Given the description of an element on the screen output the (x, y) to click on. 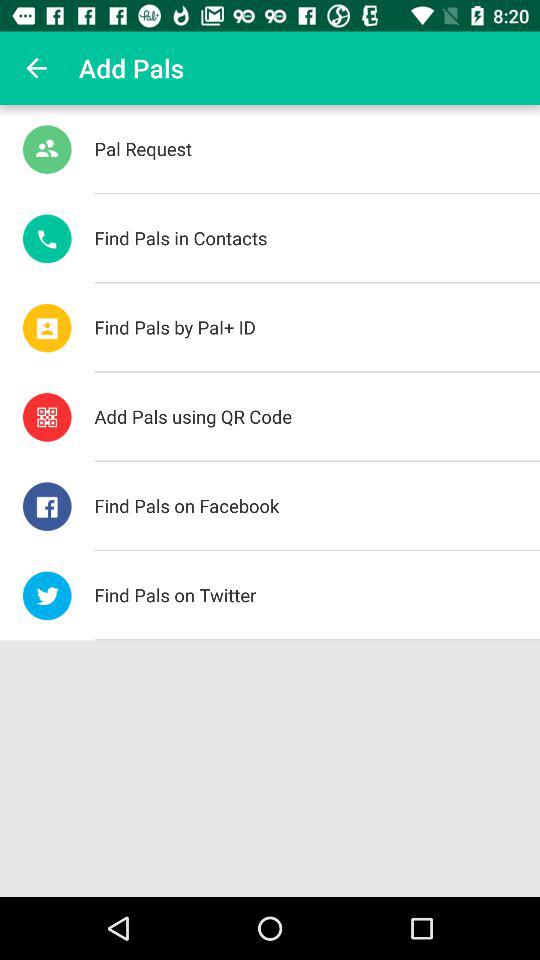
open item to the left of add pals icon (36, 68)
